Given the description of an element on the screen output the (x, y) to click on. 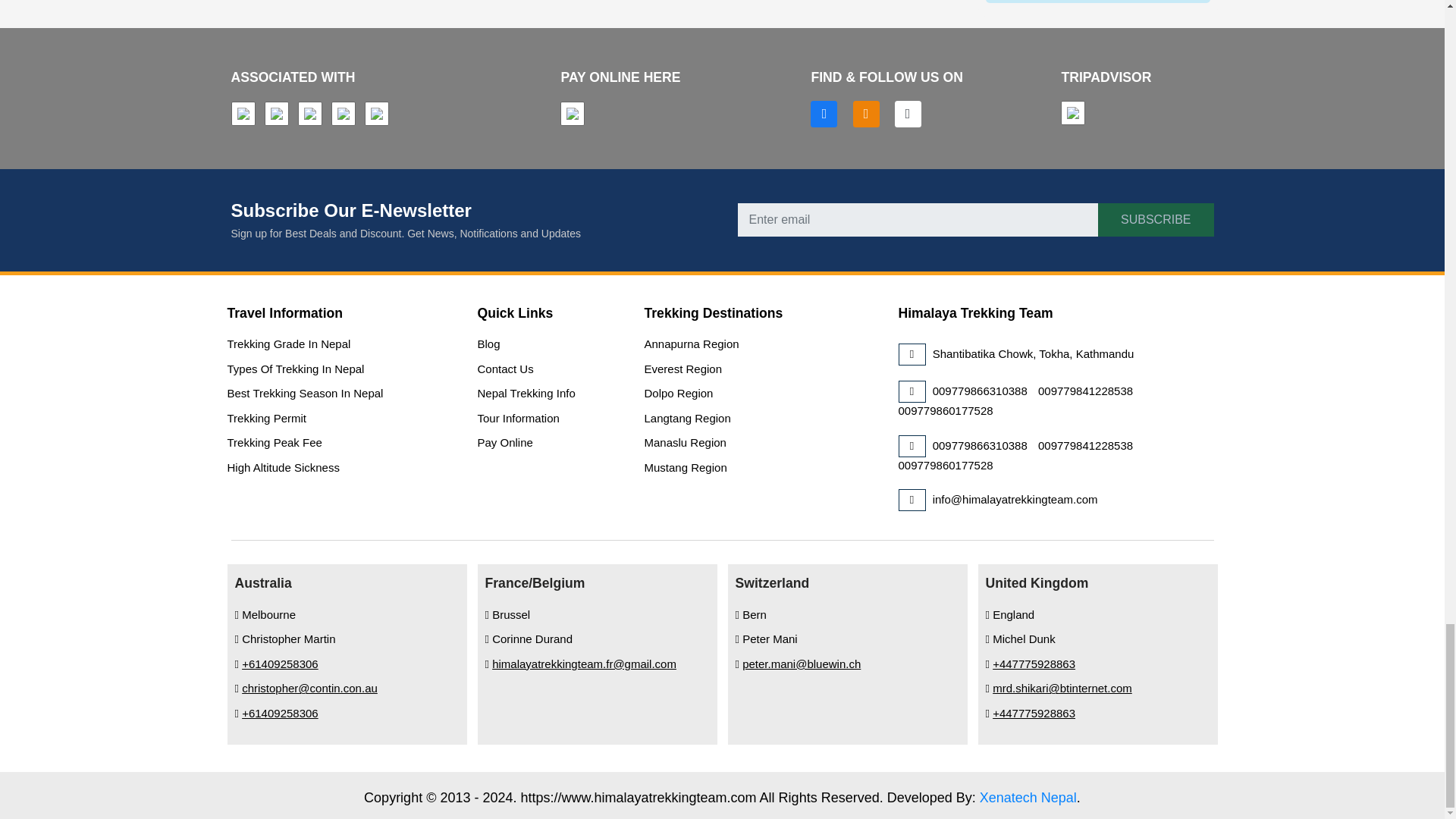
Associated With (379, 114)
Associated With (312, 114)
Associated With (346, 114)
Pay Online (574, 114)
Associated With (279, 114)
Associated With (245, 114)
